Given the description of an element on the screen output the (x, y) to click on. 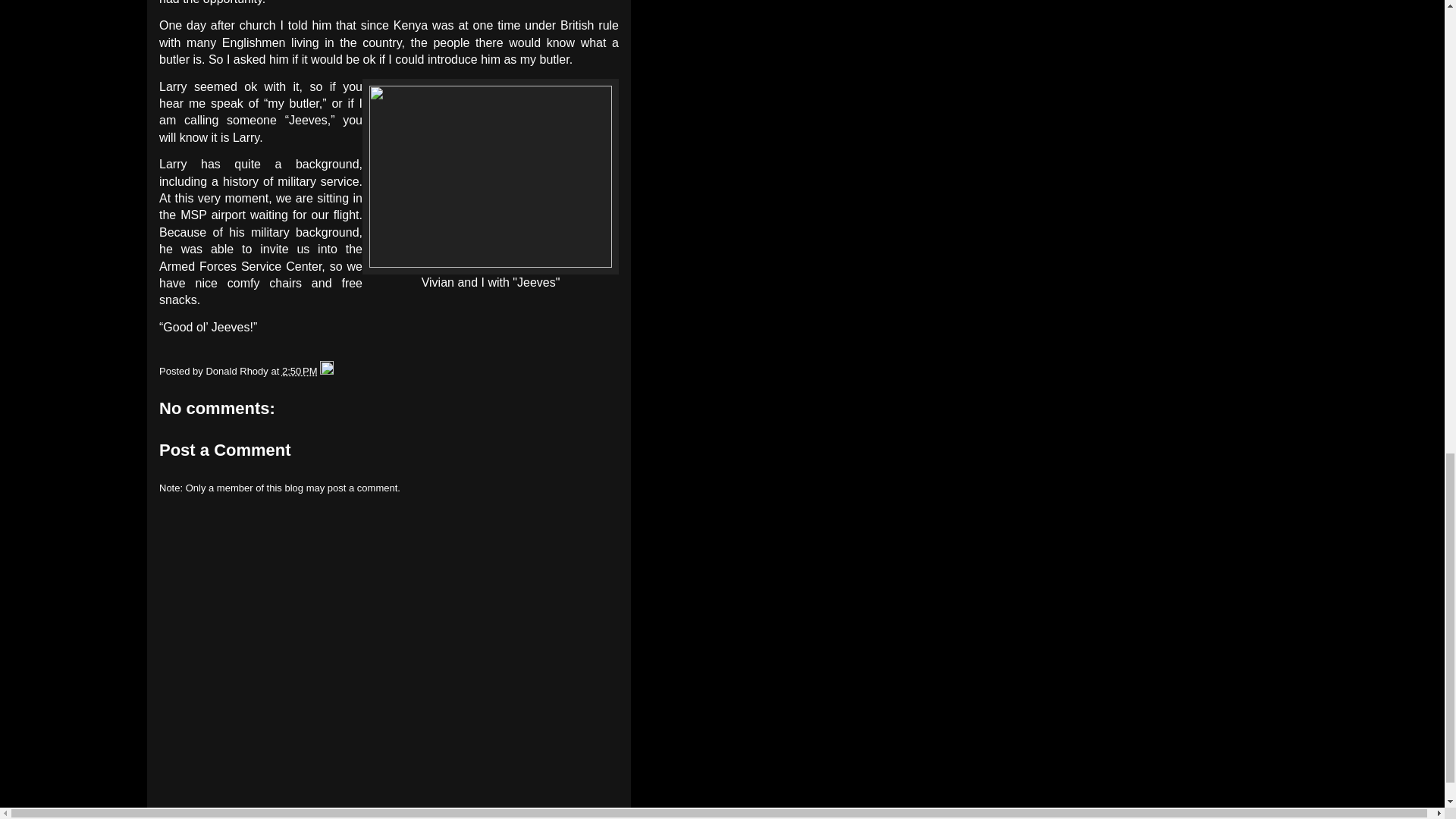
Edit Post (326, 370)
permanent link (299, 370)
author profile (237, 370)
Donald Rhody (237, 370)
